Given the description of an element on the screen output the (x, y) to click on. 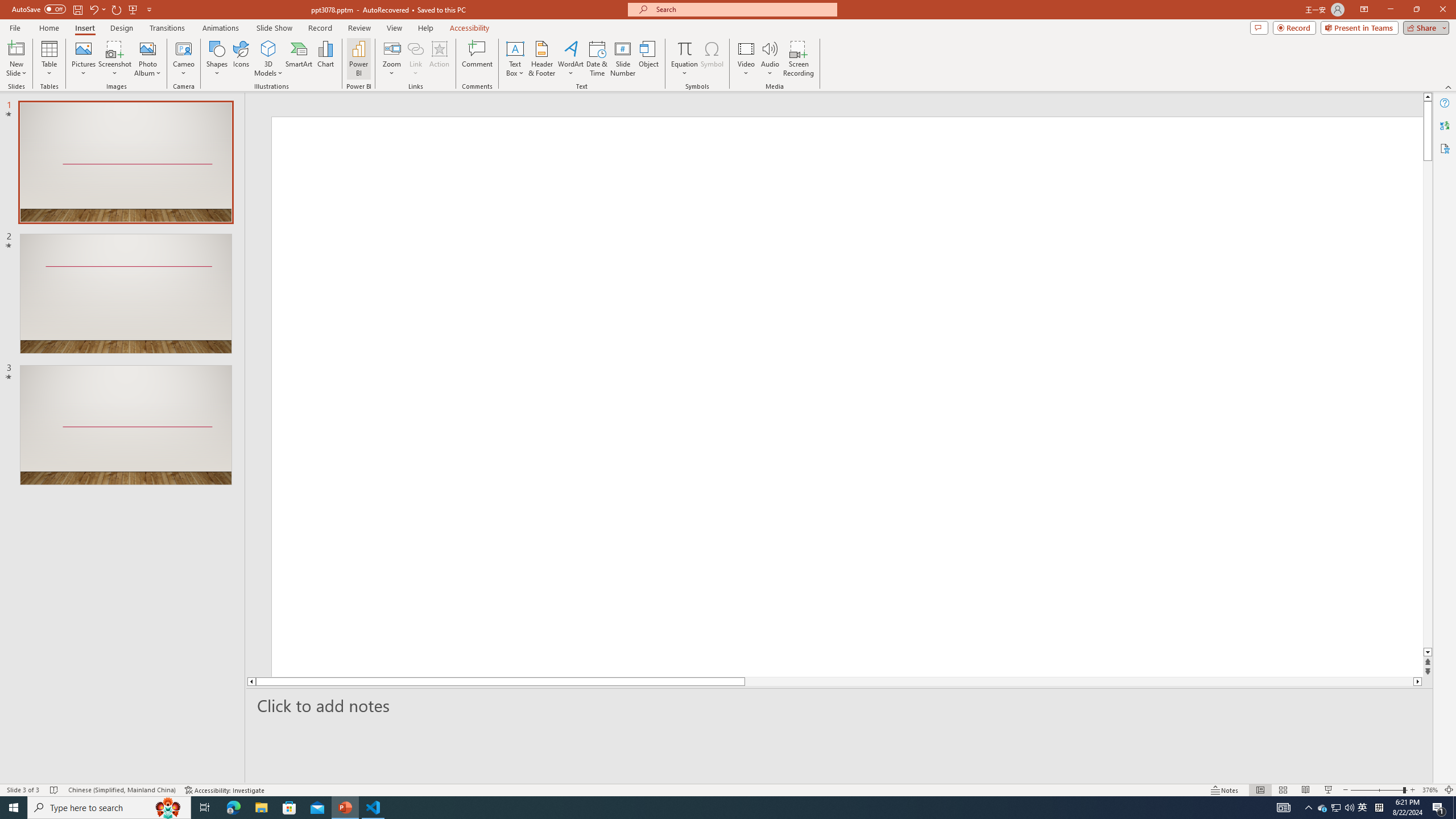
Slide (125, 425)
New Slide (16, 48)
Comment (476, 58)
Spell Check No Errors (54, 790)
Object... (649, 58)
Icons (240, 58)
